Given the description of an element on the screen output the (x, y) to click on. 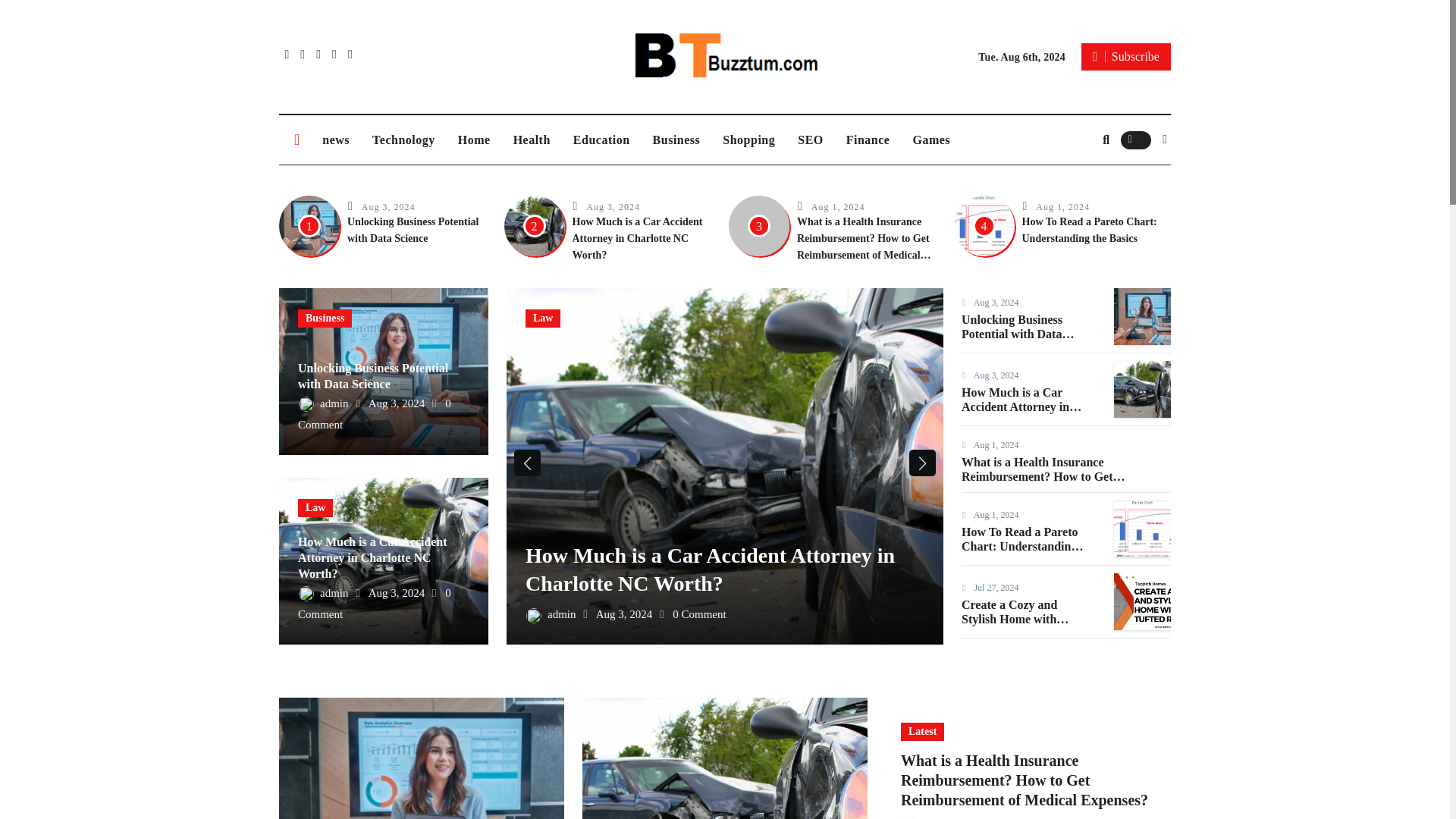
Shopping (748, 139)
Games (930, 139)
Business (325, 318)
Education (602, 139)
Health (532, 139)
Health (532, 139)
Games (930, 139)
SEO (810, 139)
Aug 3, 2024 (387, 206)
Home (474, 139)
Subscribe (1125, 56)
Education (602, 139)
SEO (810, 139)
Business (676, 139)
